Given the description of an element on the screen output the (x, y) to click on. 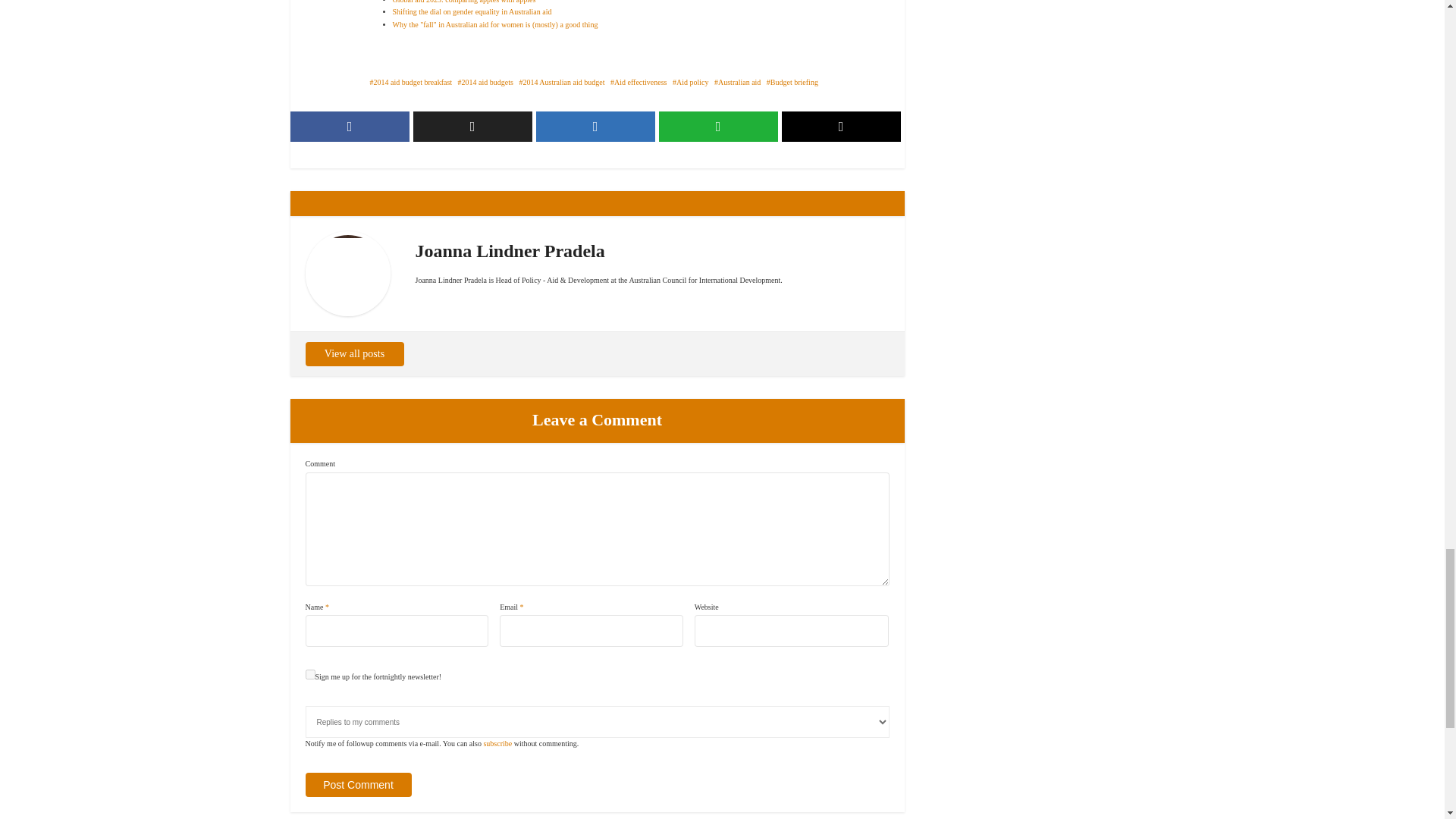
1 (309, 674)
Shifting the dial on gender equality in Australian aid (472, 11)
2014 aid budget breakfast (410, 81)
Post Comment (357, 784)
Global aid 2023: comparing apples with apples (464, 2)
